Given the description of an element on the screen output the (x, y) to click on. 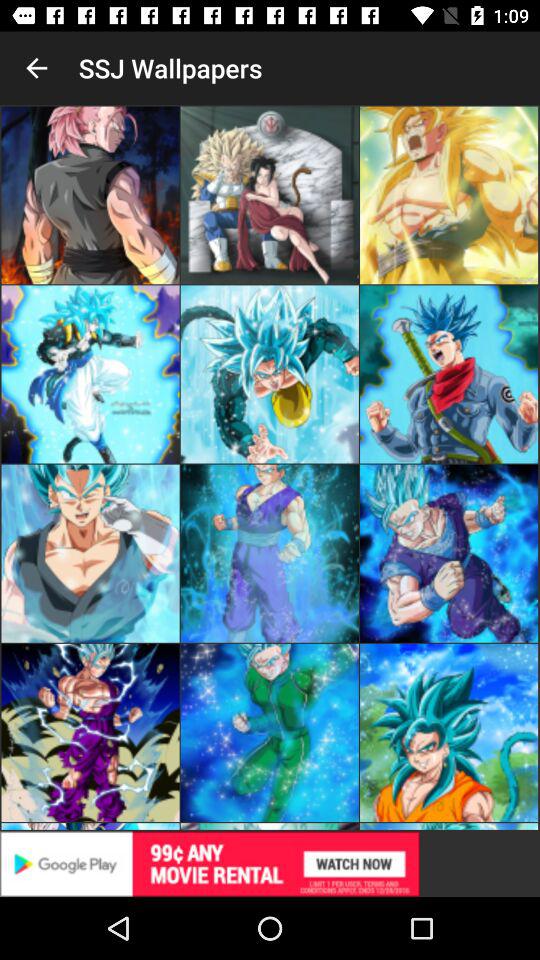
select the second image which is on the fourth vertical of the page (269, 732)
select the third image in the third row (448, 553)
go to  the image on first row second column (269, 195)
select the middle second image from bottom of page (269, 553)
select  the second image in the second row (269, 374)
